Given the description of an element on the screen output the (x, y) to click on. 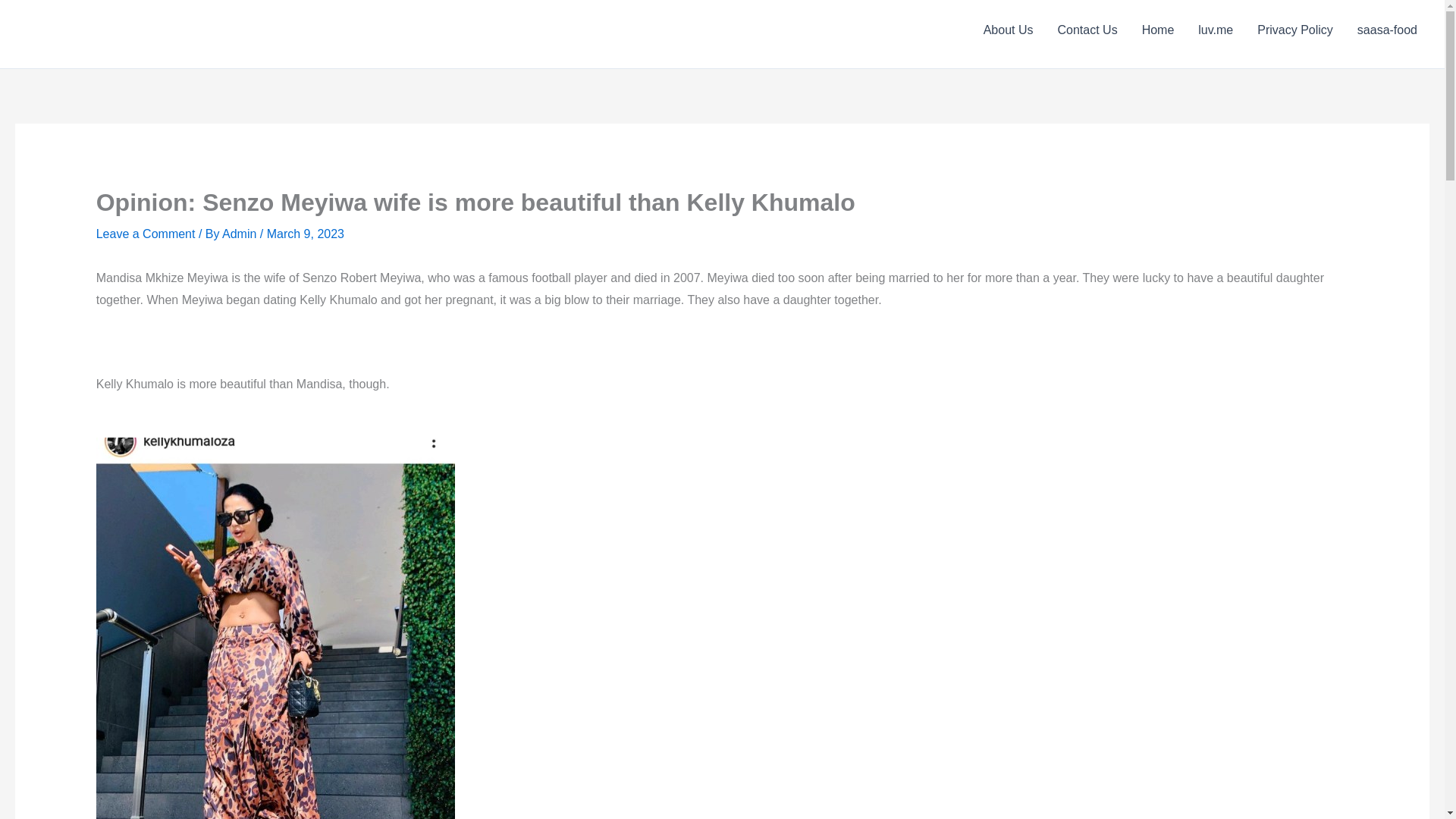
Advertisement (722, 384)
Admin (241, 233)
Privacy Policy (1294, 30)
luv.me (1215, 30)
Contact Us (1087, 30)
View all posts by Admin (241, 233)
Leave a Comment (145, 233)
About Us (1008, 30)
saasa-food (1387, 30)
Home (1157, 30)
